Given the description of an element on the screen output the (x, y) to click on. 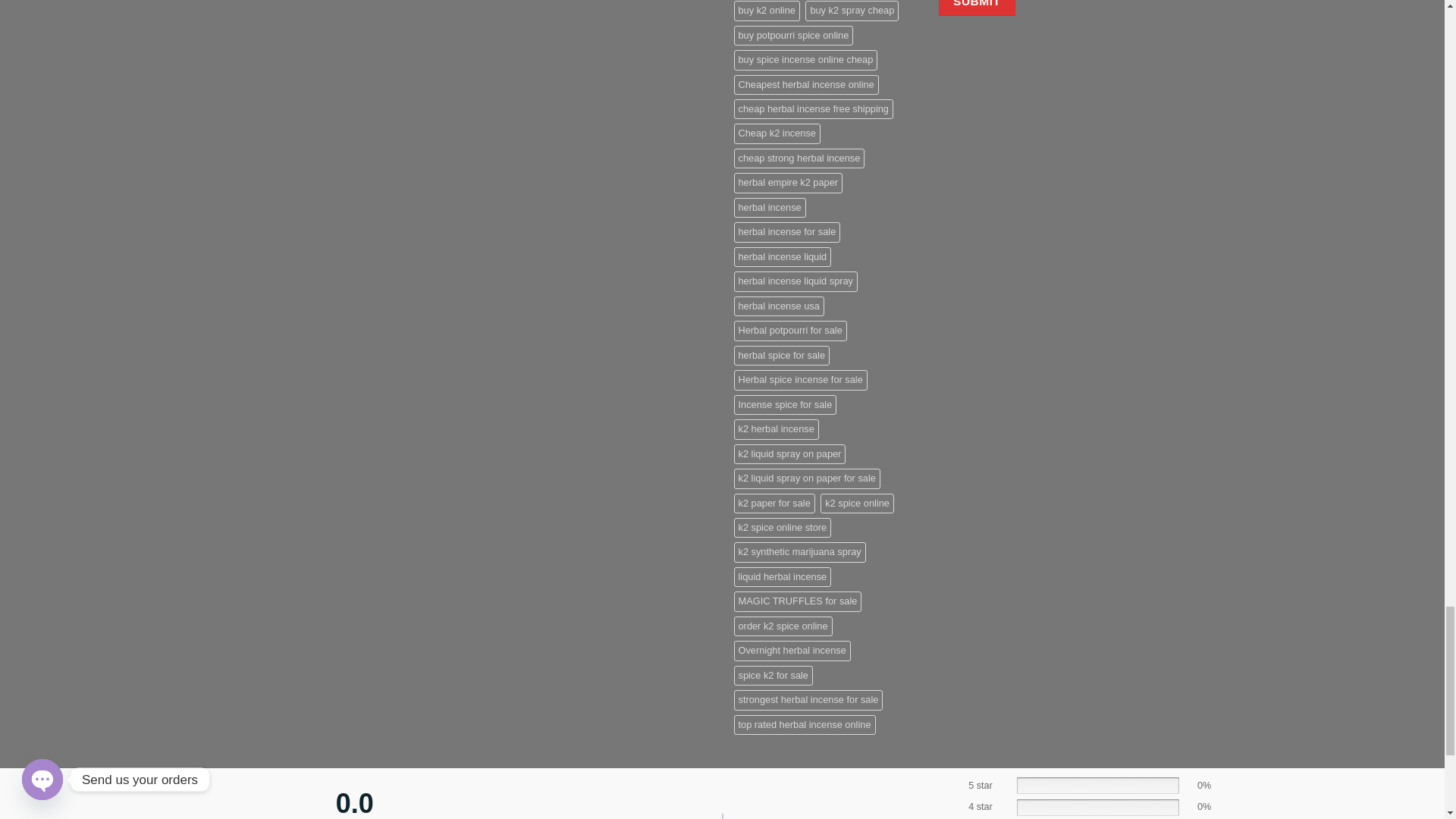
Submit (976, 7)
